Given the description of an element on the screen output the (x, y) to click on. 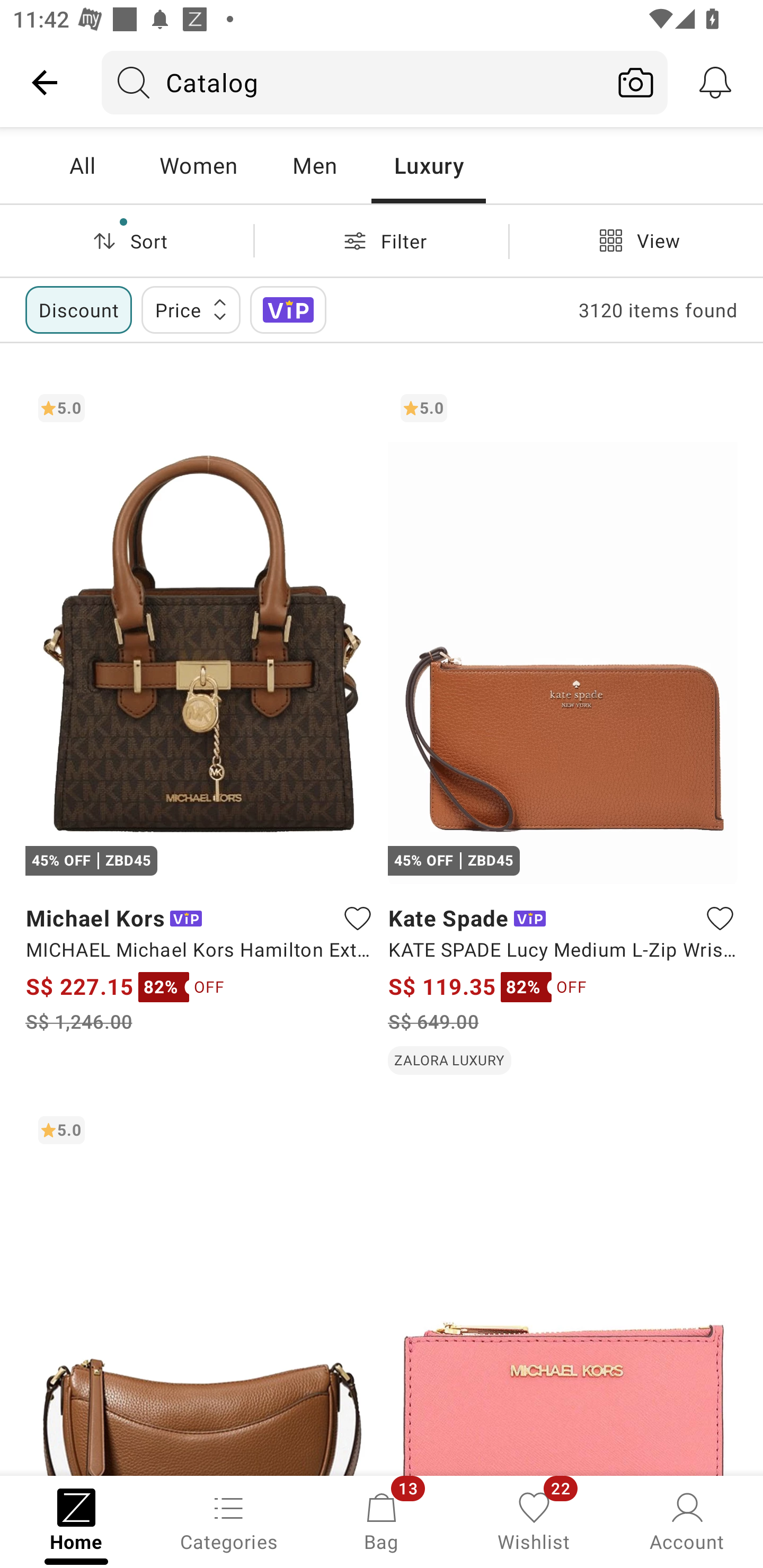
Navigate up (44, 82)
Catalog (352, 82)
All (82, 165)
Women (198, 165)
Men (314, 165)
Sort (126, 240)
Filter (381, 240)
View (636, 240)
Discount (78, 309)
Price (190, 309)
5.0 (200, 1289)
Categories (228, 1519)
Bag, 13 new notifications Bag (381, 1519)
Wishlist, 22 new notifications Wishlist (533, 1519)
Account (686, 1519)
